Given the description of an element on the screen output the (x, y) to click on. 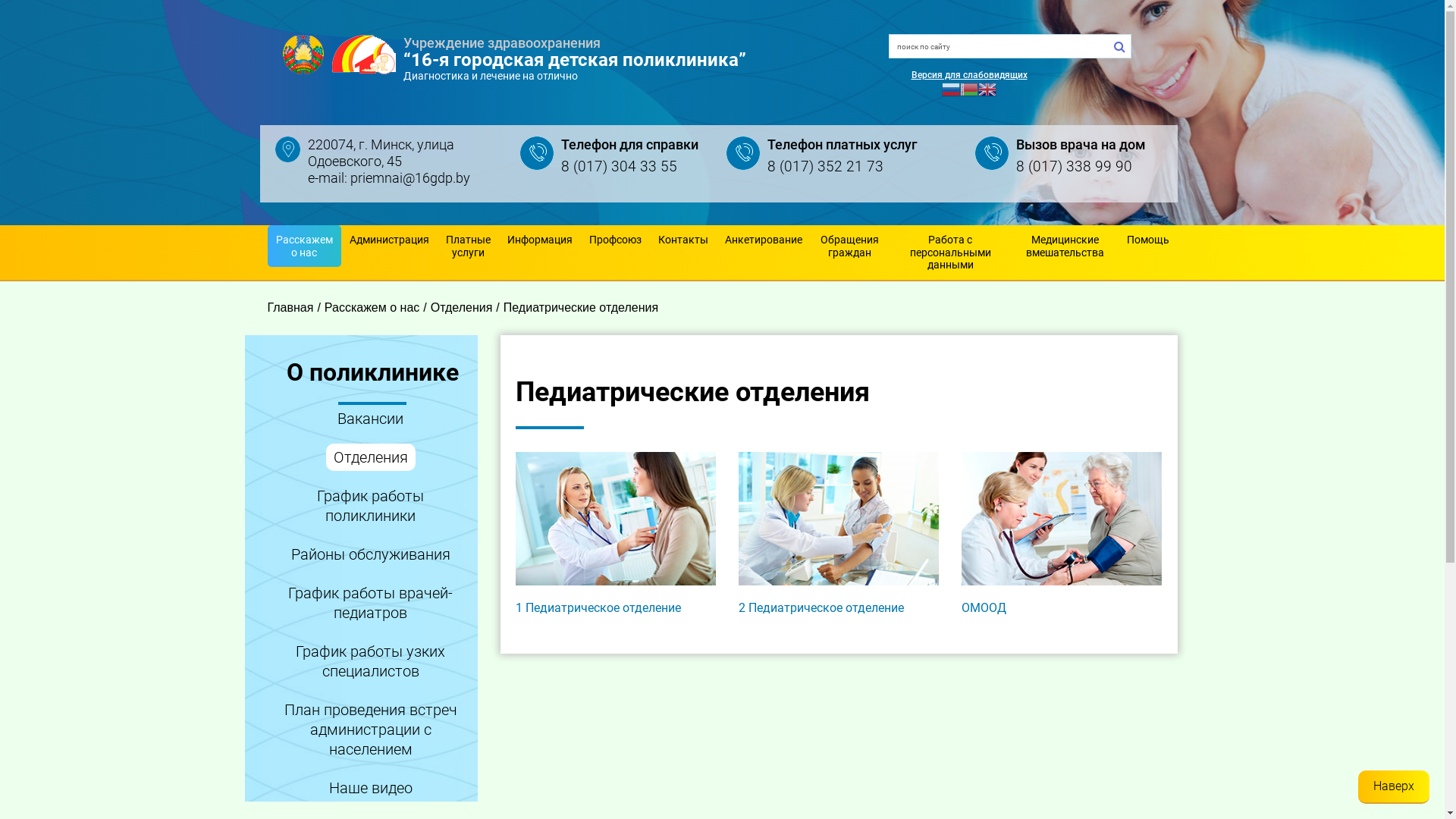
e-mail: priemnai@16gdp.by Element type: text (388, 177)
8 (017) 352 21 73 Element type: text (825, 166)
English Element type: hover (987, 88)
Belarusian Element type: hover (969, 88)
8 (017) 304 33 55 Element type: text (619, 166)
8 (017) 338 99 90 Element type: text (1074, 166)
Russian Element type: hover (950, 88)
